Given the description of an element on the screen output the (x, y) to click on. 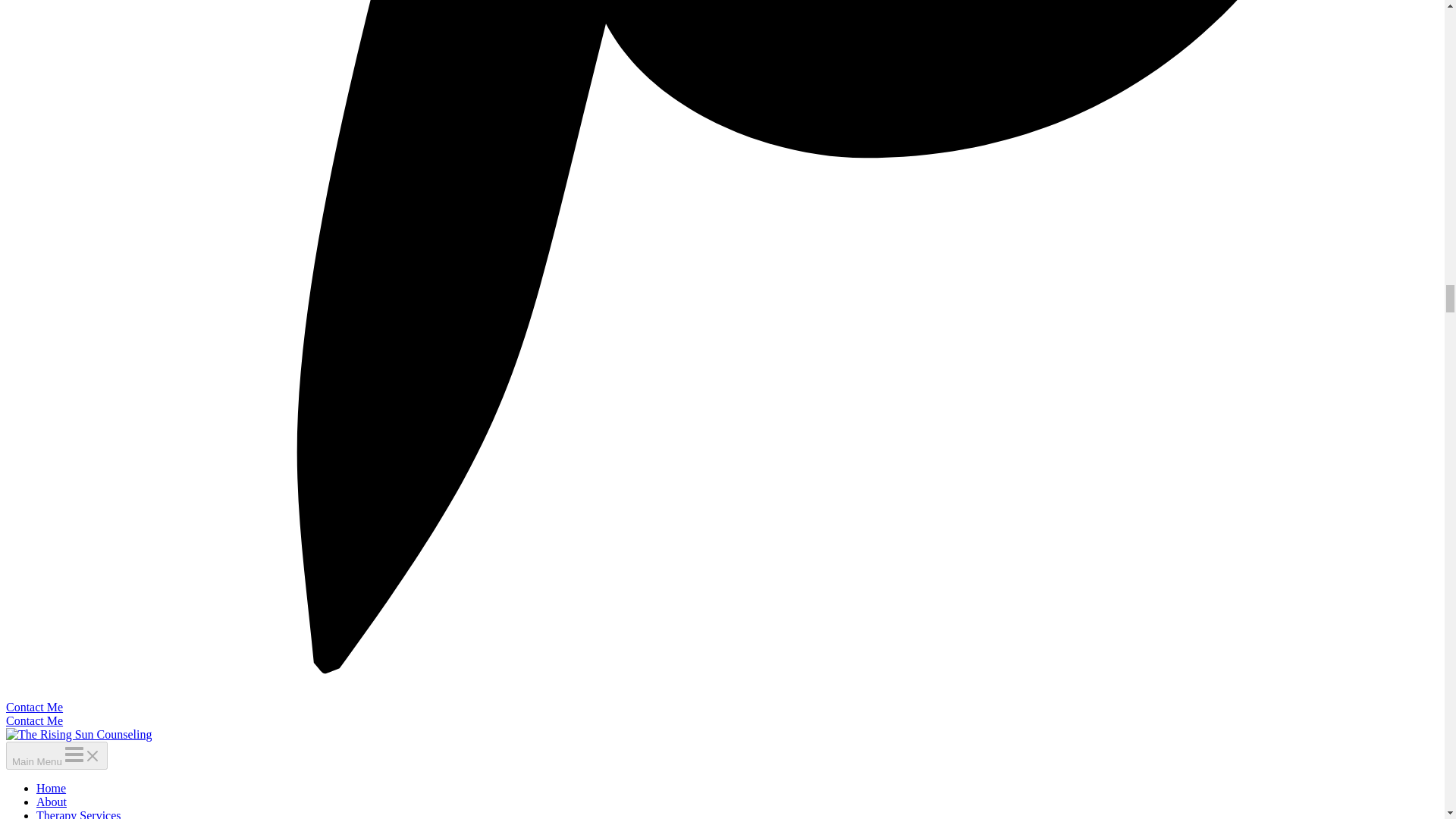
Therapy Services (78, 814)
Main Menu (56, 755)
Contact Me (33, 720)
Home (50, 788)
About (51, 801)
